Given the description of an element on the screen output the (x, y) to click on. 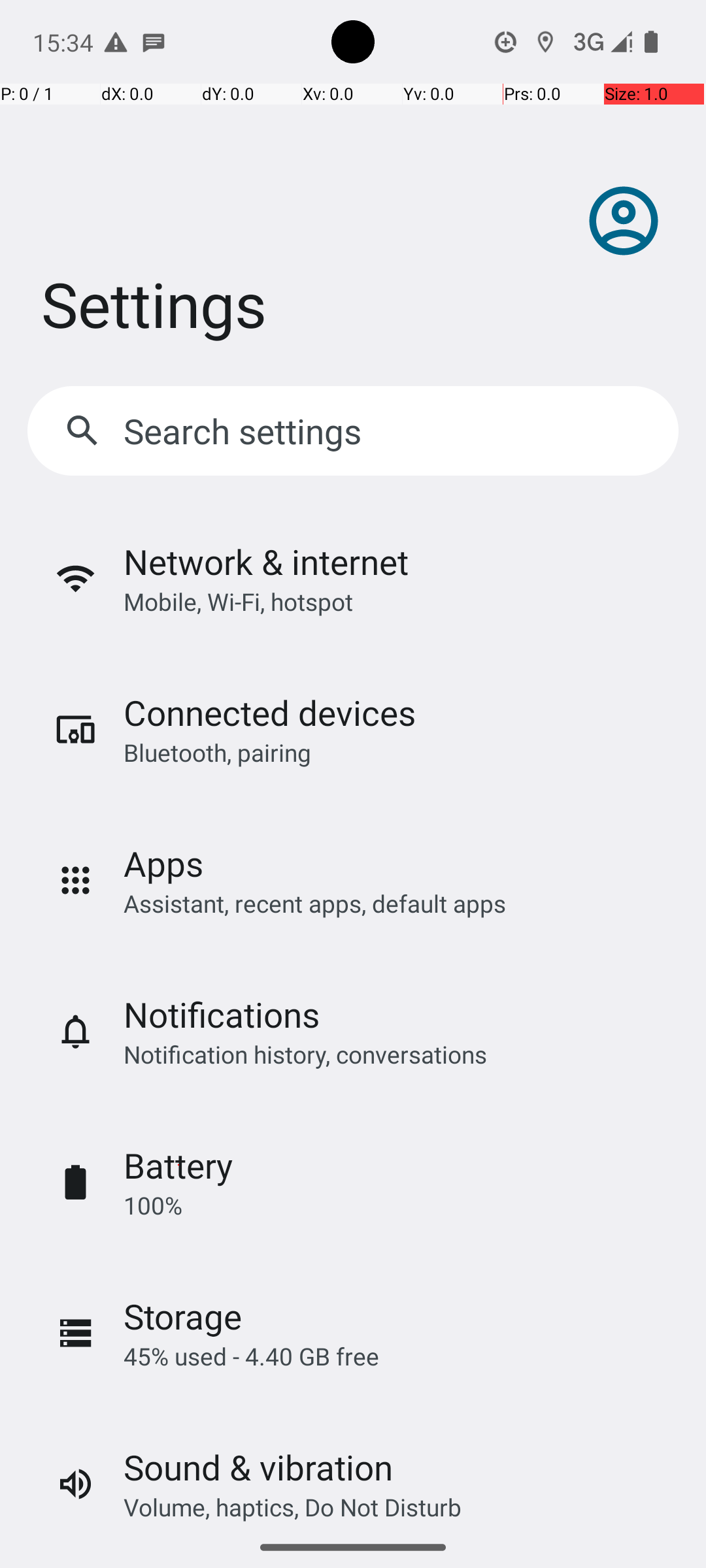
45% used - 4.40 GB free Element type: android.widget.TextView (251, 1355)
